Given the description of an element on the screen output the (x, y) to click on. 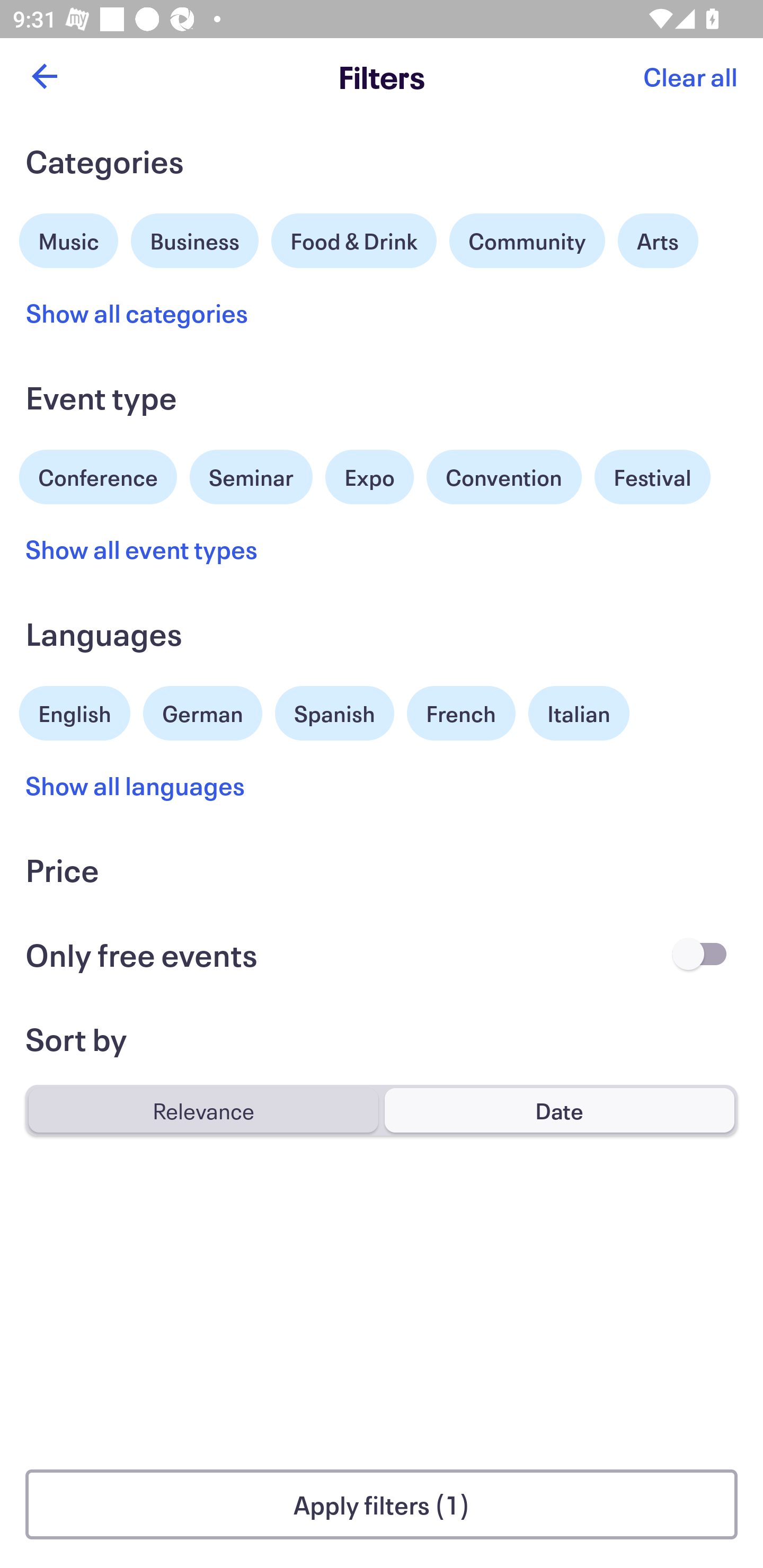
Back button (44, 75)
Clear all (690, 75)
Music (68, 238)
Business (194, 238)
Food & Drink (353, 240)
Community (527, 240)
Arts (658, 240)
Show all categories (136, 312)
Conference (98, 475)
Seminar (250, 477)
Expo (369, 477)
Convention (503, 477)
Festival (652, 477)
Show all event types (141, 548)
English (74, 710)
German (202, 710)
Spanish (334, 713)
French (460, 713)
Italian (578, 713)
Show all languages (135, 784)
Relevance (203, 1109)
Date (559, 1109)
Apply filters (1) (381, 1504)
